Given the description of an element on the screen output the (x, y) to click on. 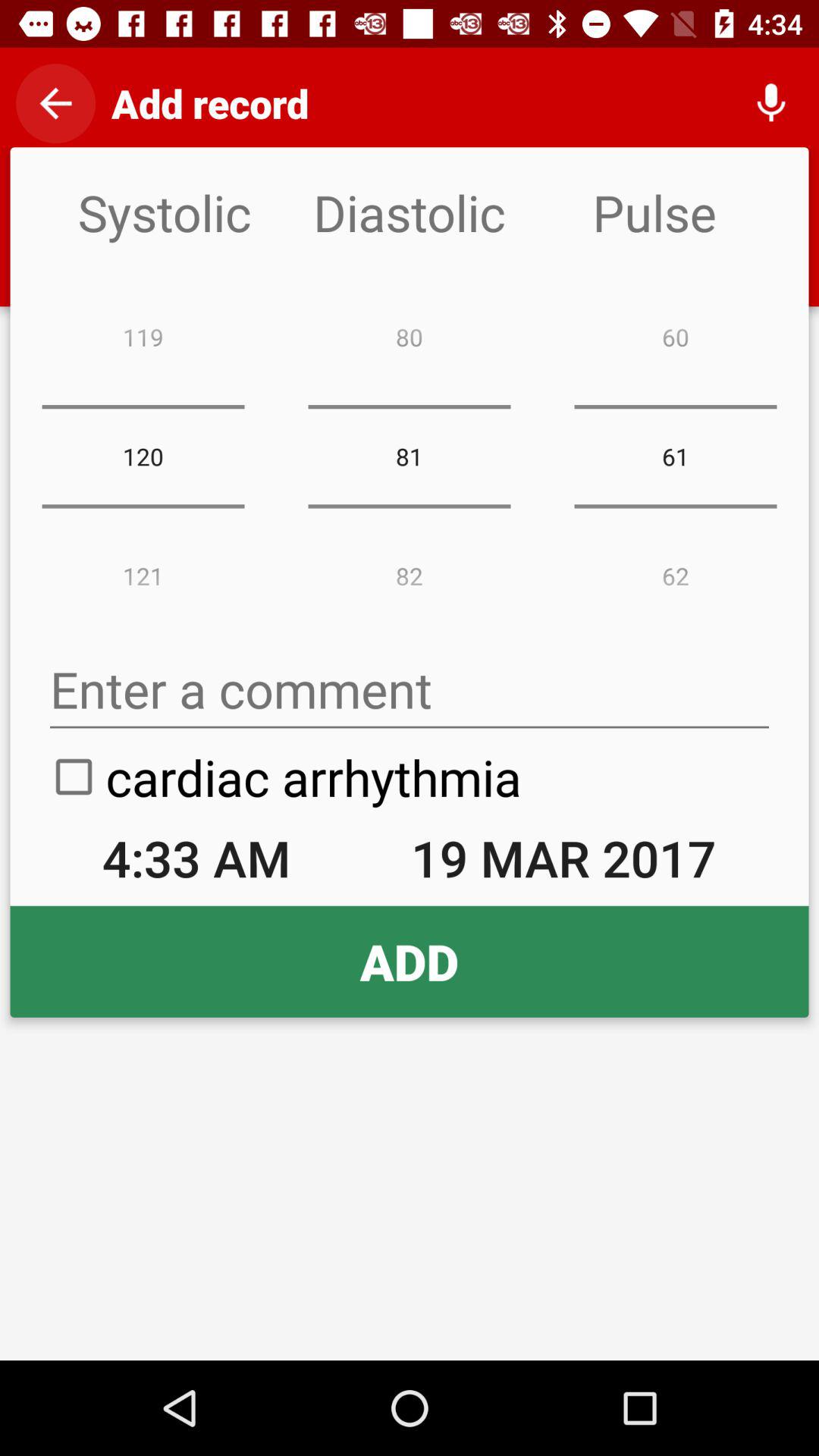
comment box (409, 689)
